Given the description of an element on the screen output the (x, y) to click on. 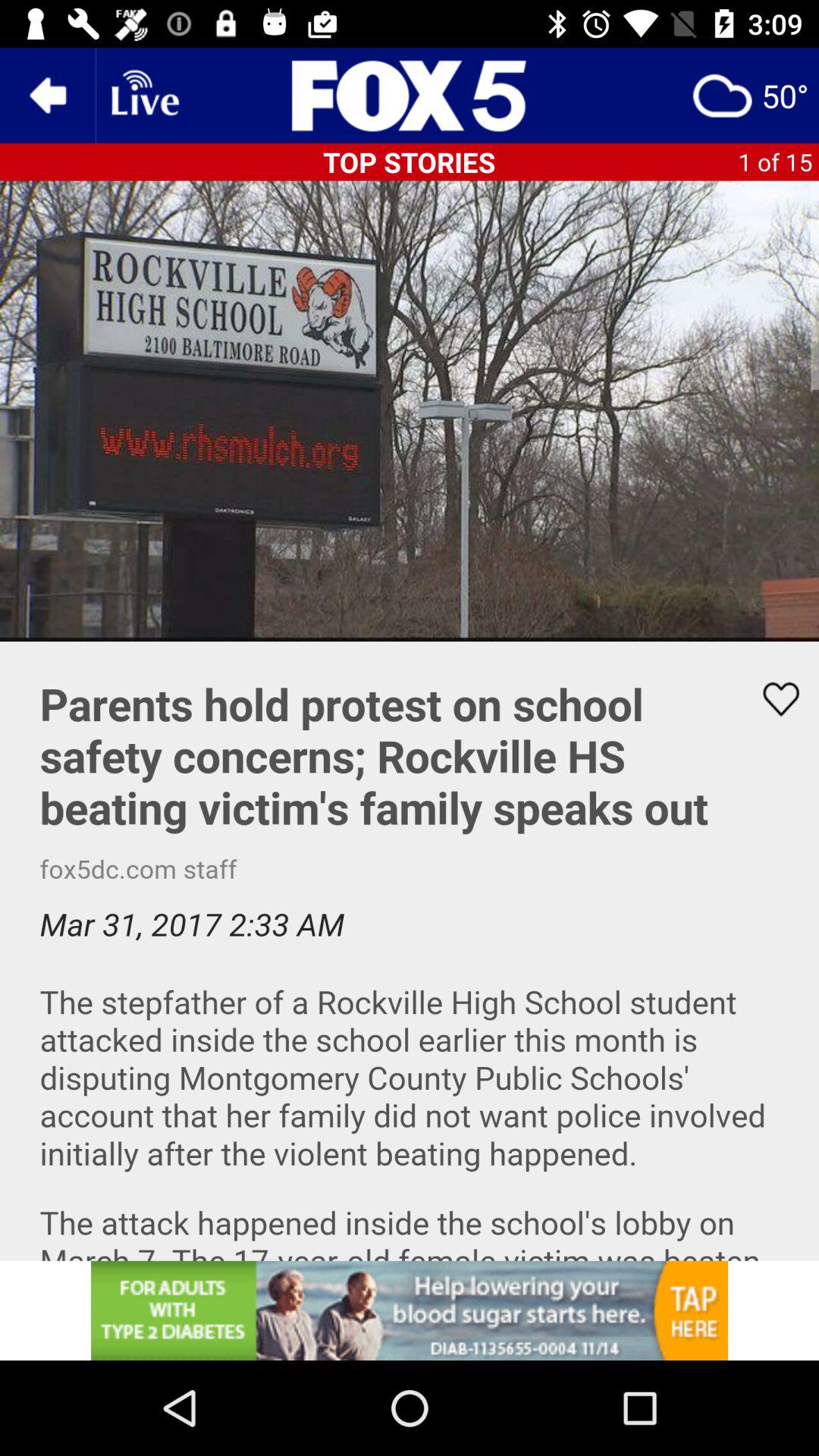
vedio detail read screen (409, 950)
